Given the description of an element on the screen output the (x, y) to click on. 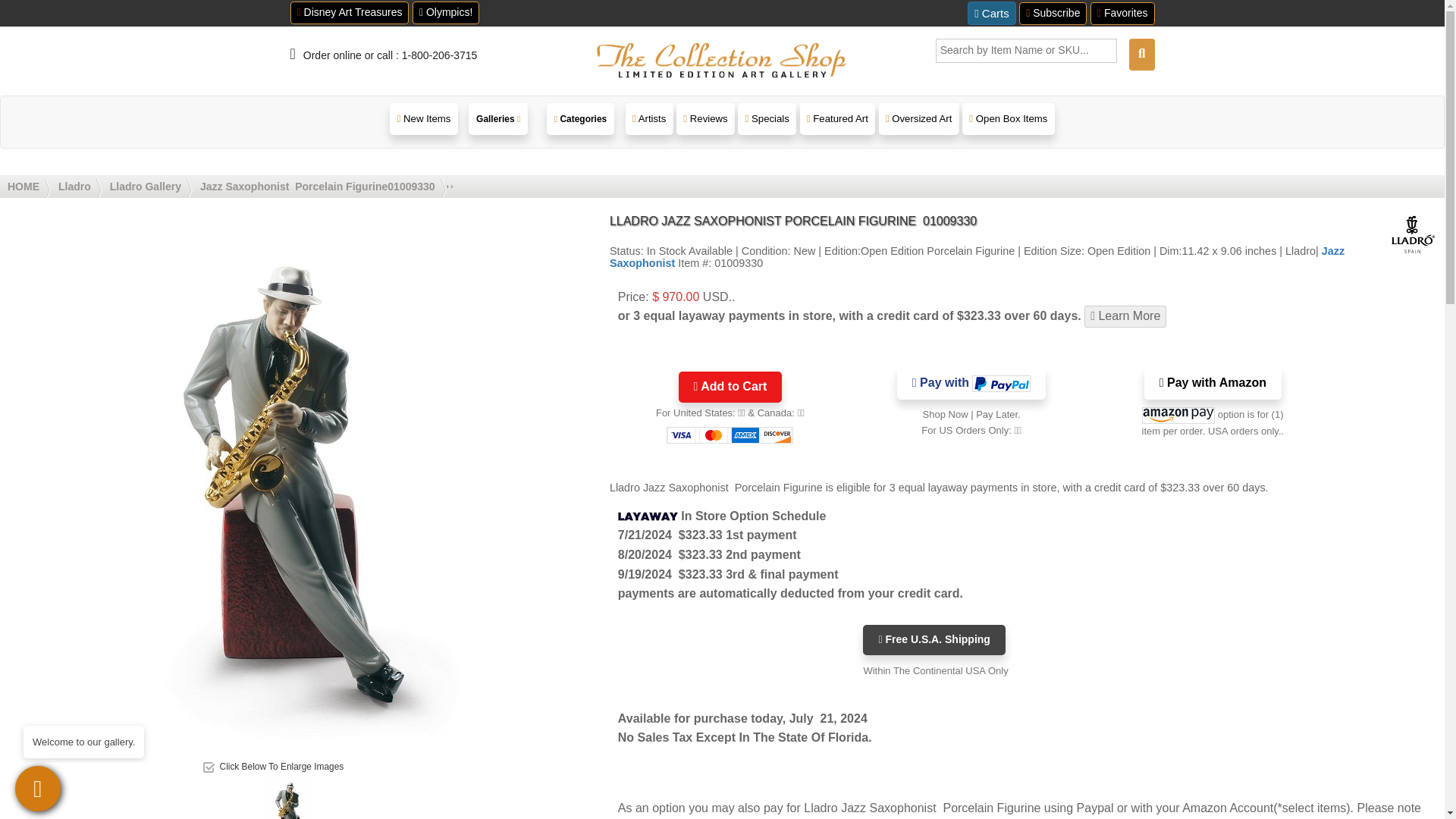
Olympics! (445, 12)
Subscribe (1052, 13)
LladroJazz Saxophonist (289, 812)
Carts (992, 13)
Favorites (1122, 13)
New Items (423, 118)
Galleries (498, 121)
Disney Art Treasures (349, 12)
